Given the description of an element on the screen output the (x, y) to click on. 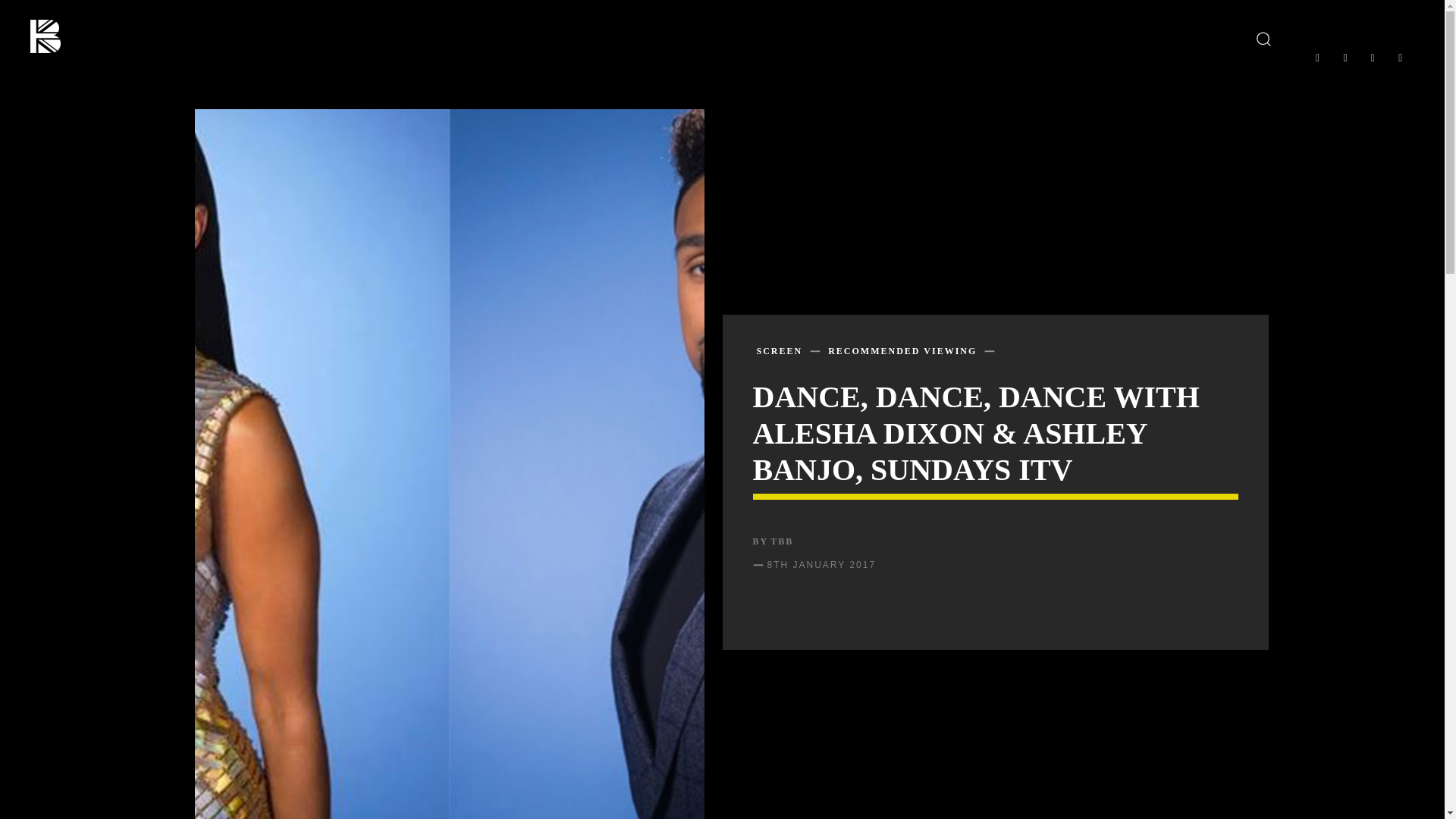
RECOMMENDED VIEWING (902, 350)
Youtube (1400, 57)
SCREEN (780, 350)
Twitter (1372, 57)
Facebook (1316, 57)
Instagram (1345, 57)
